Given the description of an element on the screen output the (x, y) to click on. 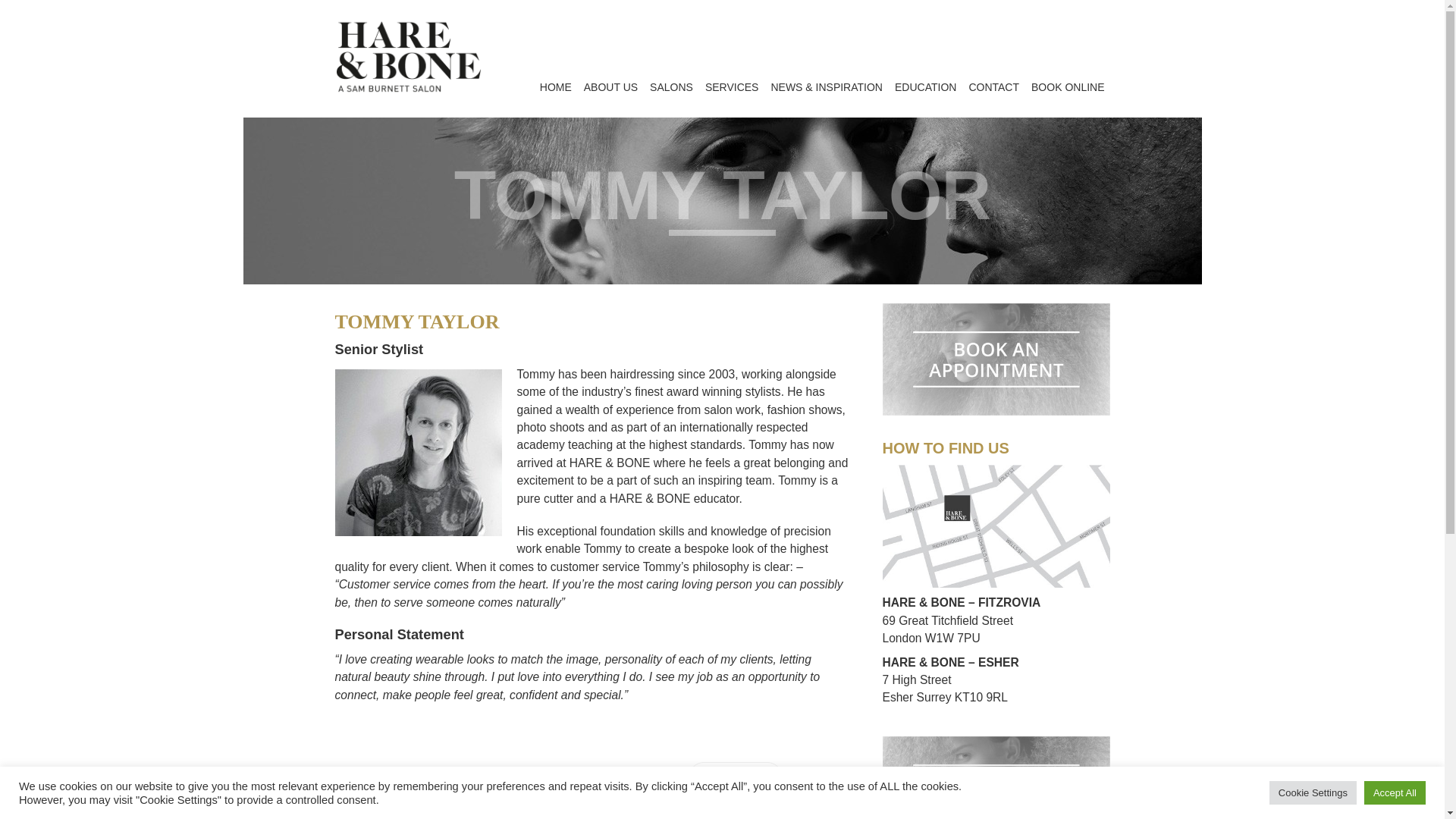
ABOUT US (610, 87)
EDUCATION (925, 87)
Book Online (995, 744)
Book Now (735, 778)
Book Online (995, 310)
BOOK ONLINE (1067, 87)
Contact (995, 472)
HOME (556, 87)
SERVICES (731, 87)
SALONS (670, 87)
